Given the description of an element on the screen output the (x, y) to click on. 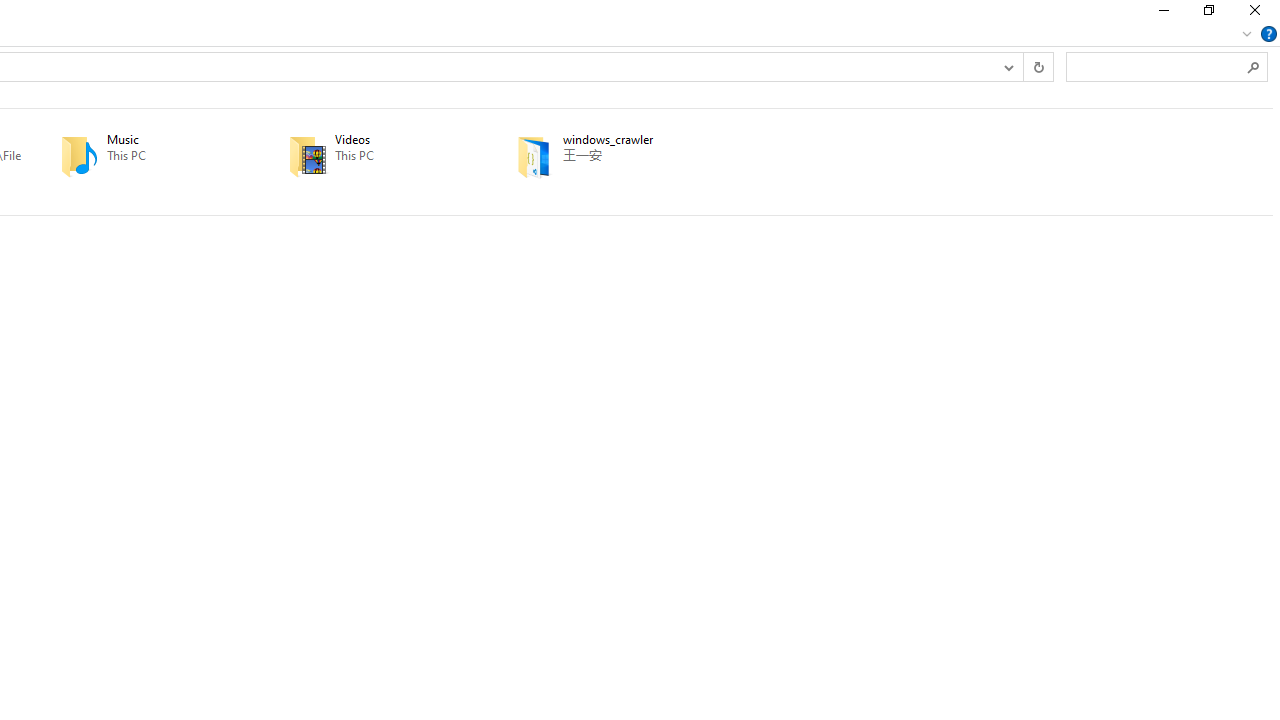
Path (635, 155)
Search (1253, 66)
Name (635, 139)
Search Box (1156, 66)
Videos (374, 156)
Refresh "Quick access" (F5) (1037, 66)
Class: UIImage (534, 155)
Minimize the Ribbon (1247, 33)
Pinned (635, 170)
Minimize (1162, 14)
Restore (1208, 14)
Previous Locations (1007, 66)
Music (146, 156)
Address band toolbar (1023, 66)
windows_crawler (602, 156)
